Given the description of an element on the screen output the (x, y) to click on. 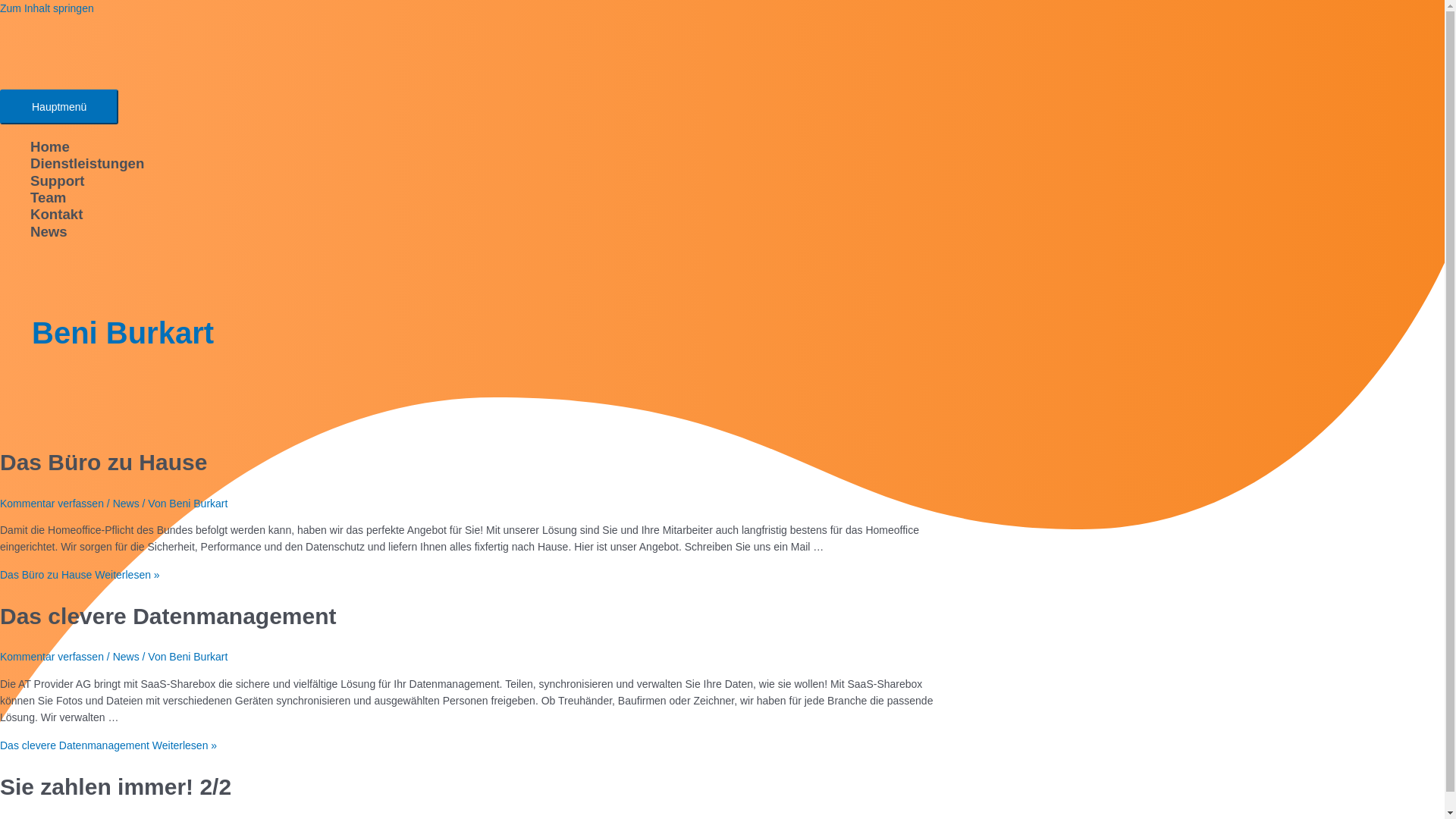
Beni Burkart Element type: text (198, 503)
Das clevere Datenmanagement Element type: text (168, 615)
Kommentar verfassen Element type: text (51, 656)
Sie zahlen immer! 2/2 Element type: text (115, 786)
Team Element type: text (485, 197)
News Element type: text (485, 231)
News Element type: text (125, 503)
Dienstleistungen Element type: text (485, 163)
Home Element type: text (485, 146)
News Element type: text (125, 656)
Kontakt Element type: text (485, 214)
Support Element type: text (485, 180)
Beni Burkart Element type: text (198, 656)
Kommentar verfassen Element type: text (51, 503)
Zum Inhalt springen Element type: text (47, 8)
